Given the description of an element on the screen output the (x, y) to click on. 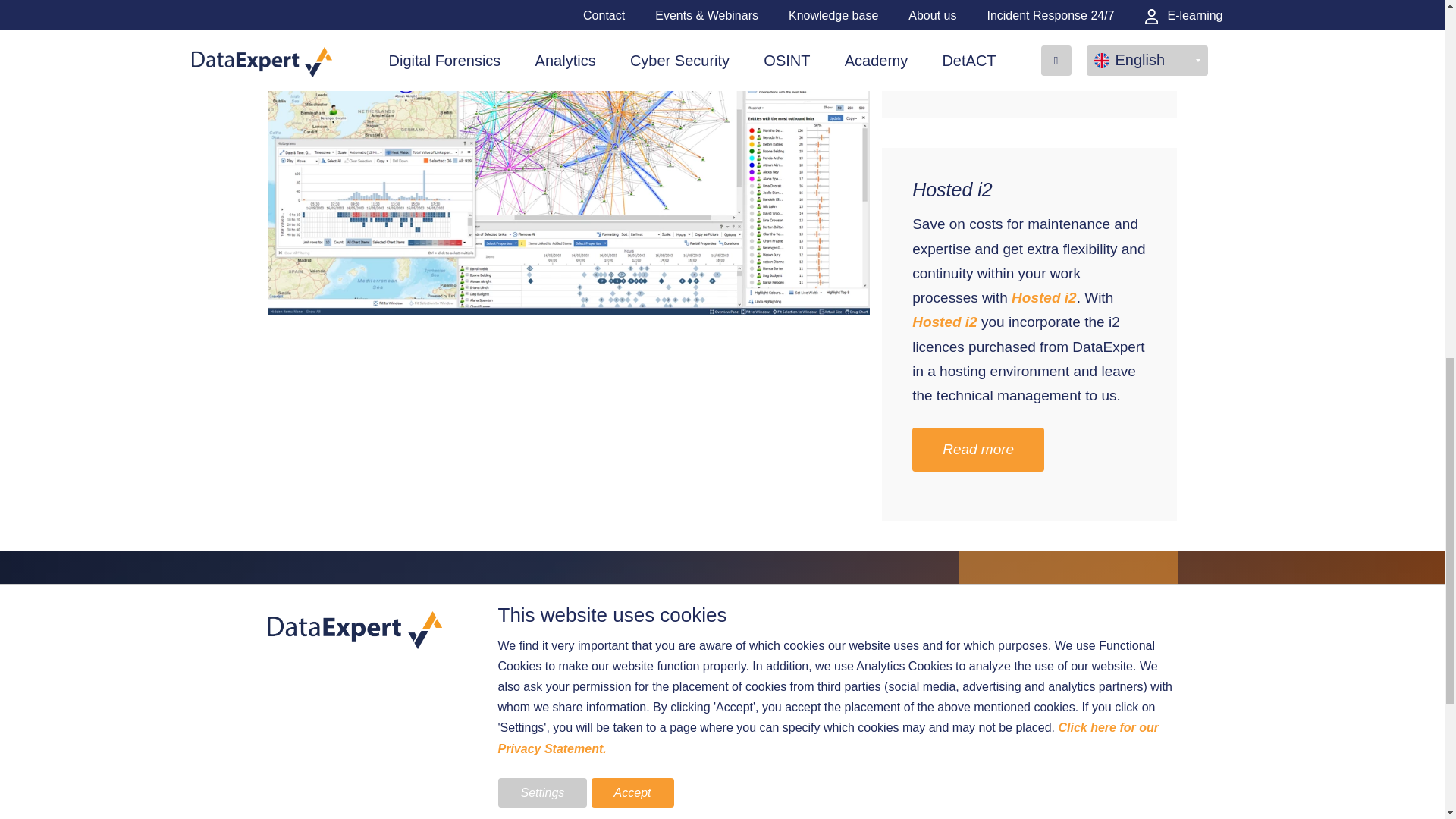
Hosted i2 (977, 449)
Hosted i2 (944, 321)
Hosted i2 (1044, 297)
Services (821, 597)
Training (606, 597)
Products  (391, 597)
